Given the description of an element on the screen output the (x, y) to click on. 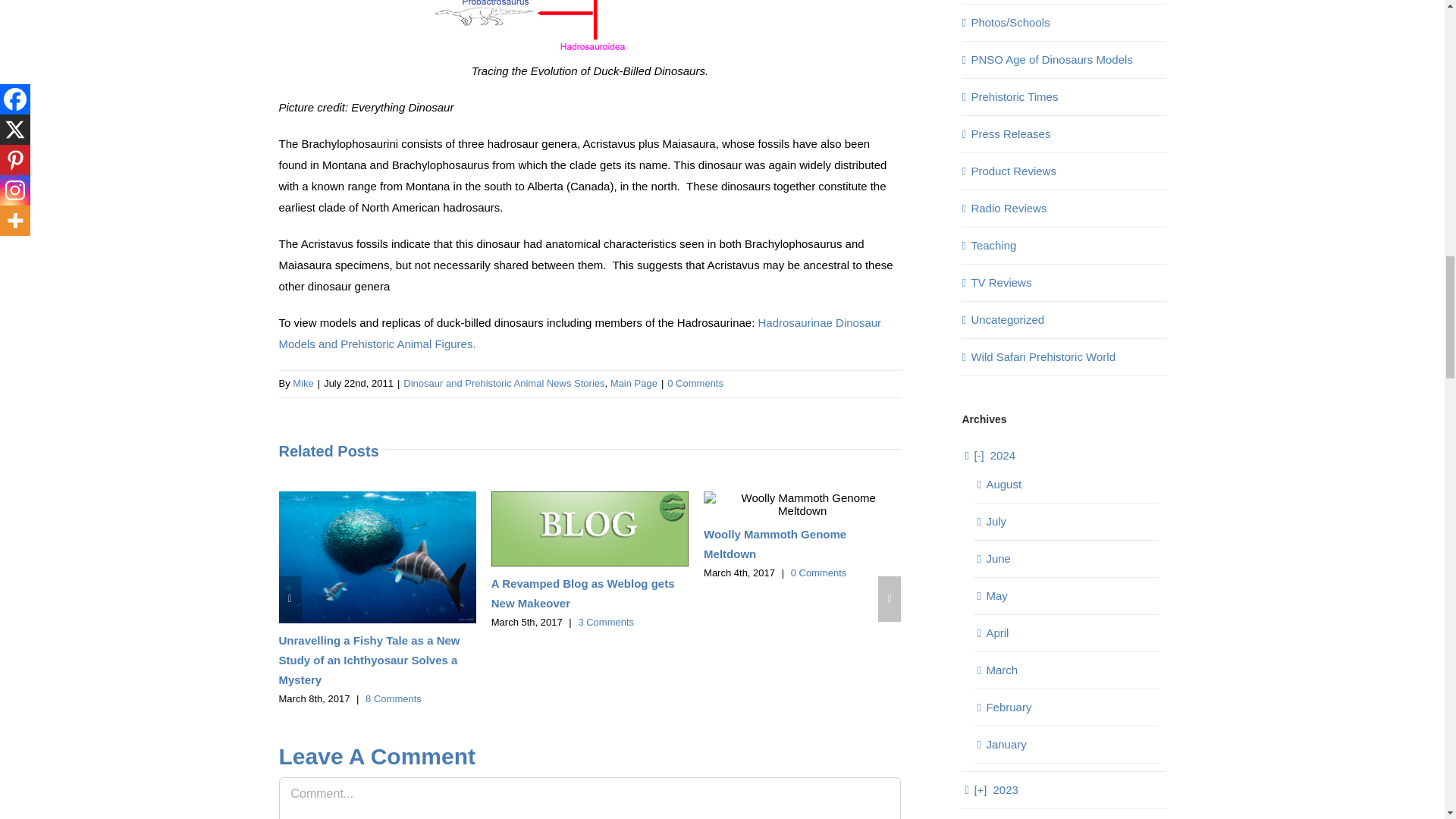
0 Comments (818, 572)
0 Comments (694, 383)
A Simplified Hadrosaur Family Tree (589, 30)
Posts by Mike (302, 383)
Woolly Mammoth Genome Meltdown (774, 543)
Mike (302, 383)
A Revamped Blog as Weblog gets New Makeover (583, 593)
3 Comments (605, 622)
Dinosaur and Prehistoric Animal News Stories (503, 383)
8 Comments (393, 698)
Main Page (634, 383)
